Given the description of an element on the screen output the (x, y) to click on. 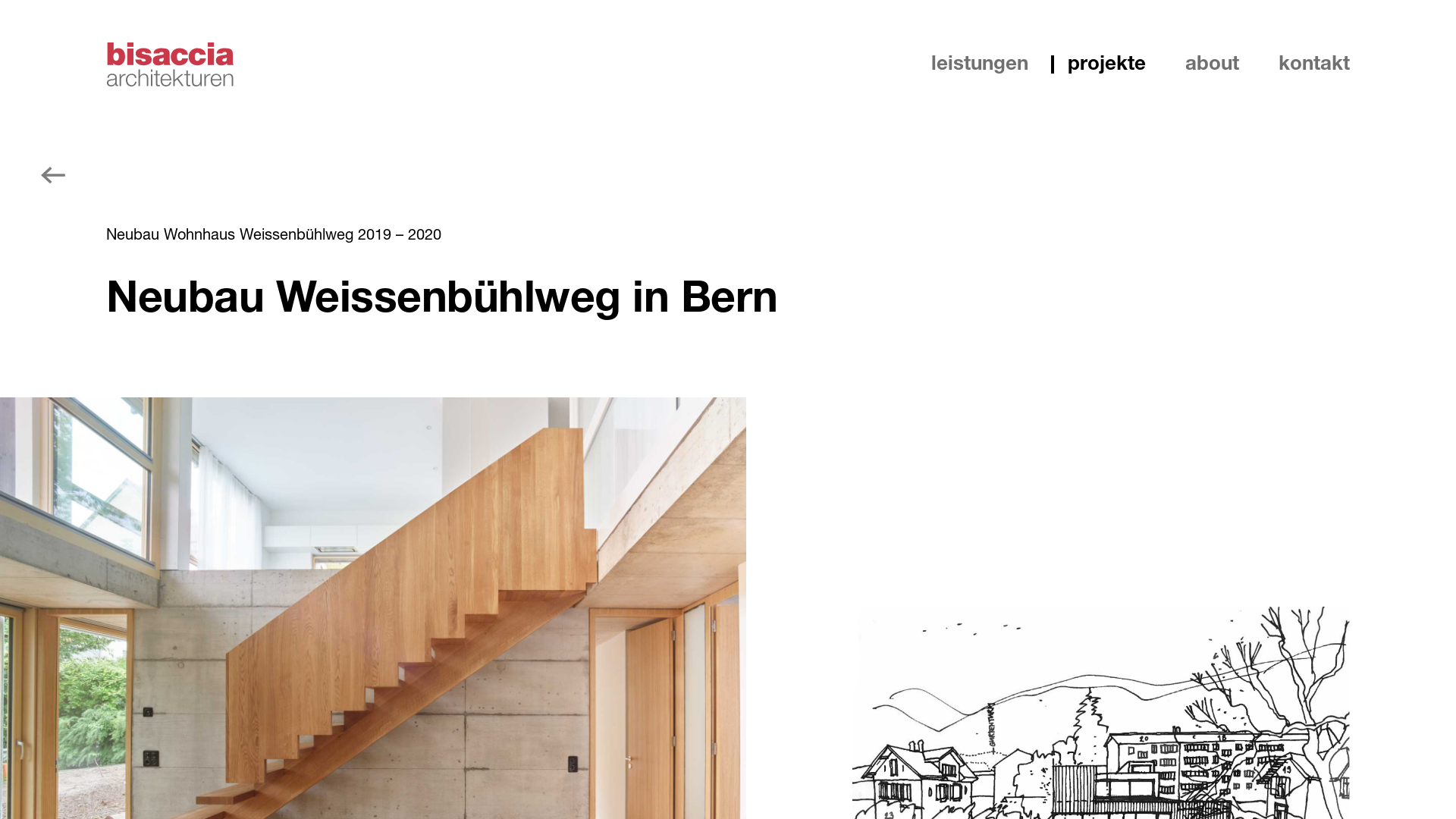
leistungen Element type: text (982, 64)
about Element type: text (1214, 64)
projekte Element type: text (1109, 64)
kontakt Element type: text (1305, 64)
